Given the description of an element on the screen output the (x, y) to click on. 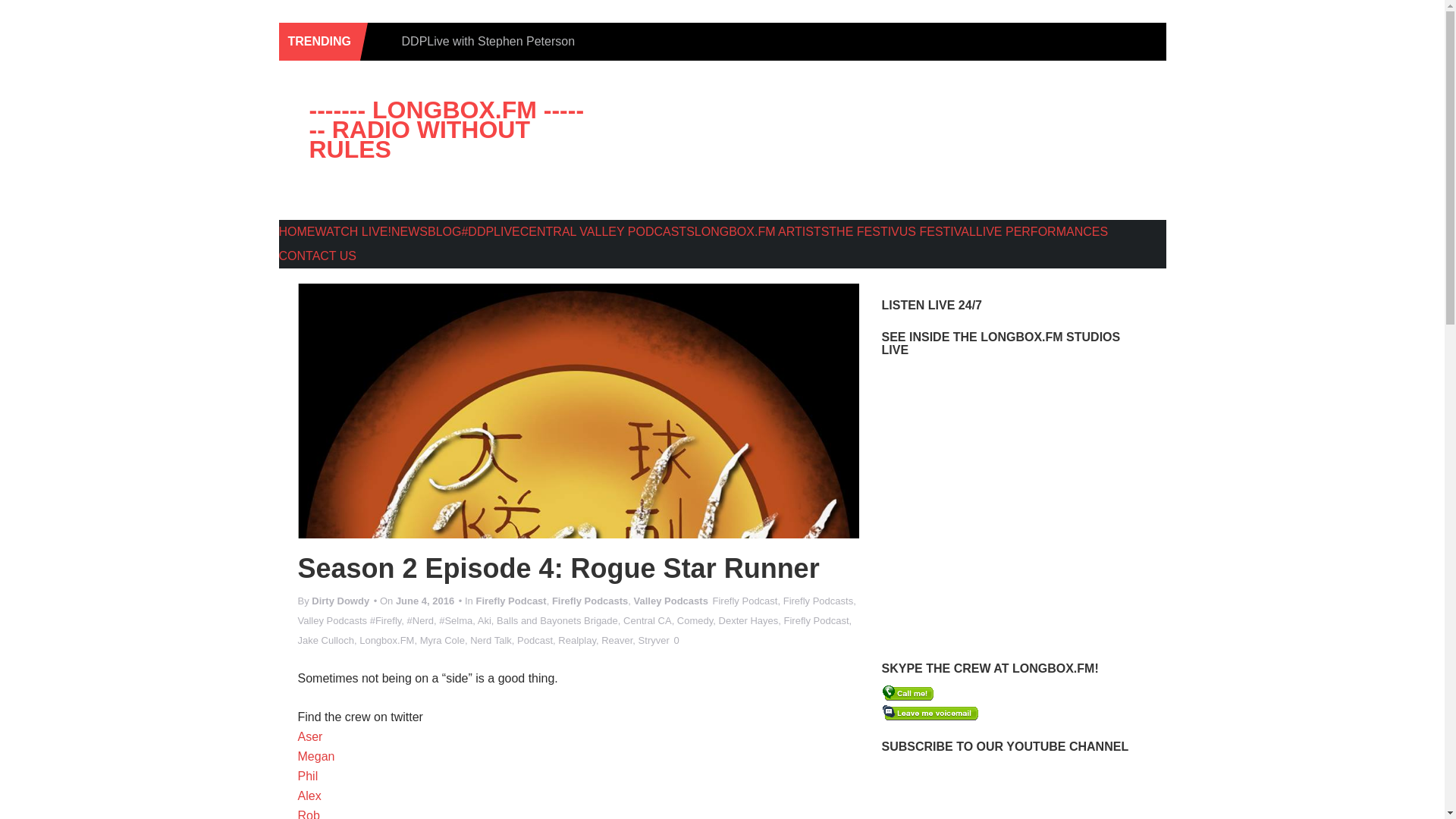
------- LONGBOX.FM ------- RADIO WITHOUT RULES (441, 137)
DDPLive with Stephen Peterson (488, 41)
NEWS (409, 232)
CENTRAL VALLEY PODCASTS (606, 232)
The Festivus Festival (901, 232)
WATCH LIVE! (353, 232)
HOME (297, 232)
DDPLive with Stephen Peterson (488, 41)
BLOG (444, 232)
Skip to content (334, 85)
